Given the description of an element on the screen output the (x, y) to click on. 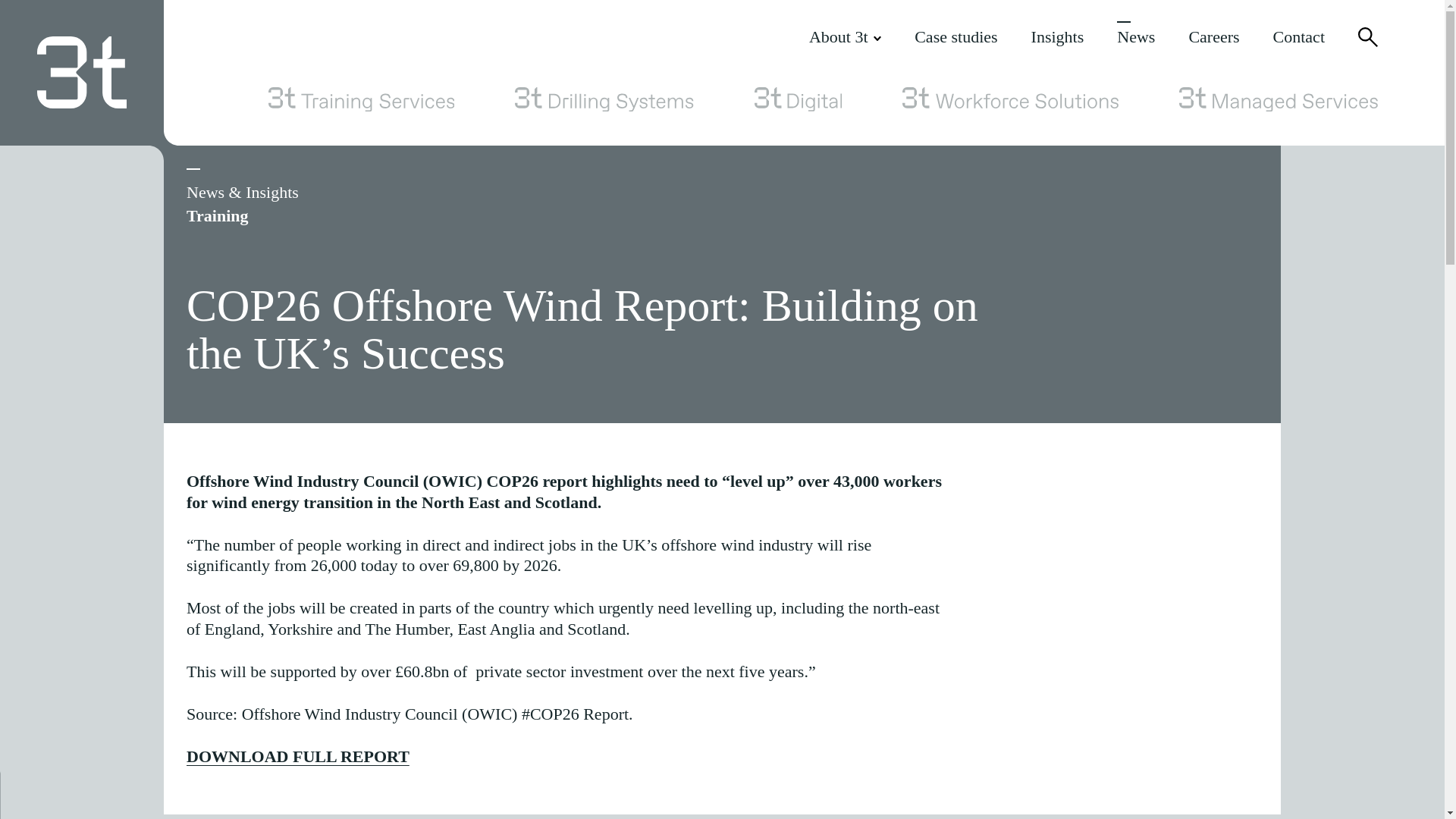
Insights (1057, 36)
About 3t (844, 36)
Case studies (955, 36)
COP26 Offshore Wind Industry Council Report (297, 755)
Contact (1298, 36)
Search (1367, 36)
Careers (1213, 36)
News (1135, 36)
